Given the description of an element on the screen output the (x, y) to click on. 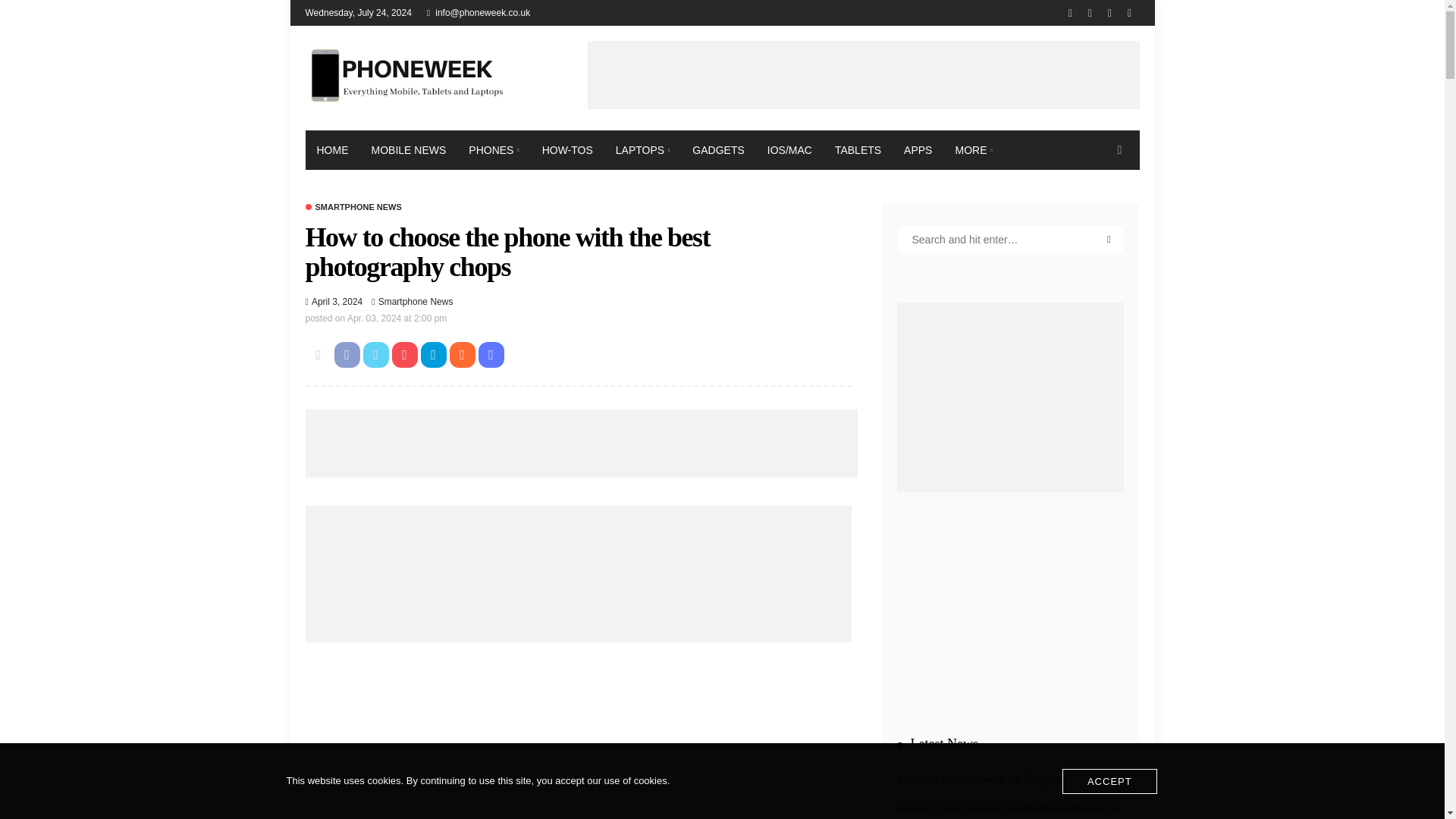
PHONES (493, 149)
GADGETS (718, 149)
APPS (917, 149)
LAPTOPS (642, 149)
search (1118, 149)
Advertisement (862, 74)
SMARTPHONE NEWS (352, 207)
Advertisement (577, 725)
HOW-TOS (567, 149)
TABLETS (858, 149)
Smartphone news (415, 301)
Smartphone News (415, 301)
Advertisement (580, 443)
Smartphone news (352, 207)
MOBILE NEWS (408, 149)
